Given the description of an element on the screen output the (x, y) to click on. 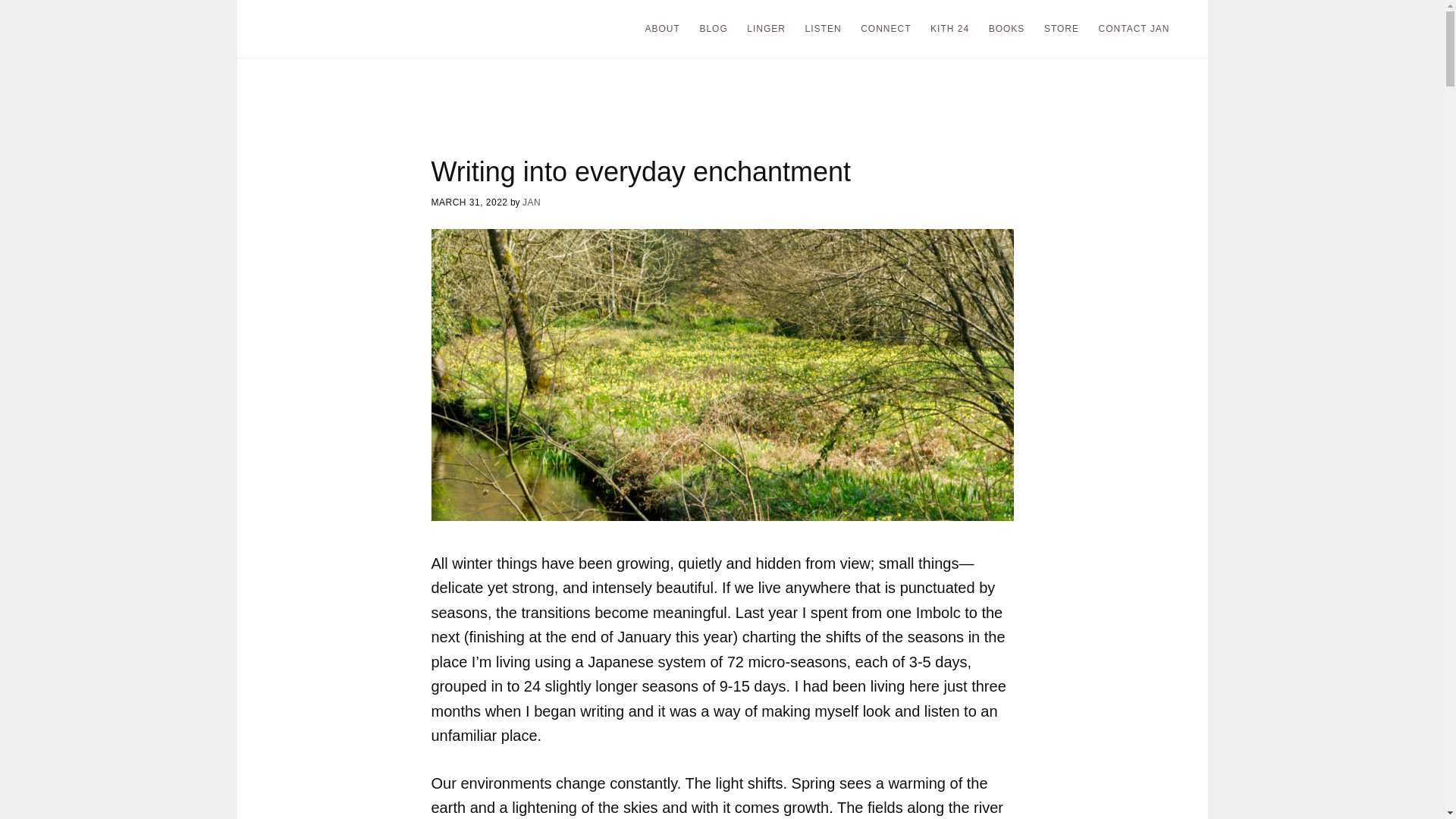
BOOKS (1006, 28)
BLOG (713, 28)
JAN (531, 202)
CONTACT JAN (1133, 28)
LINGER (766, 28)
LISTEN (822, 28)
CONNECT (885, 28)
STORE (1061, 28)
KITH 24 (949, 28)
